Given the description of an element on the screen output the (x, y) to click on. 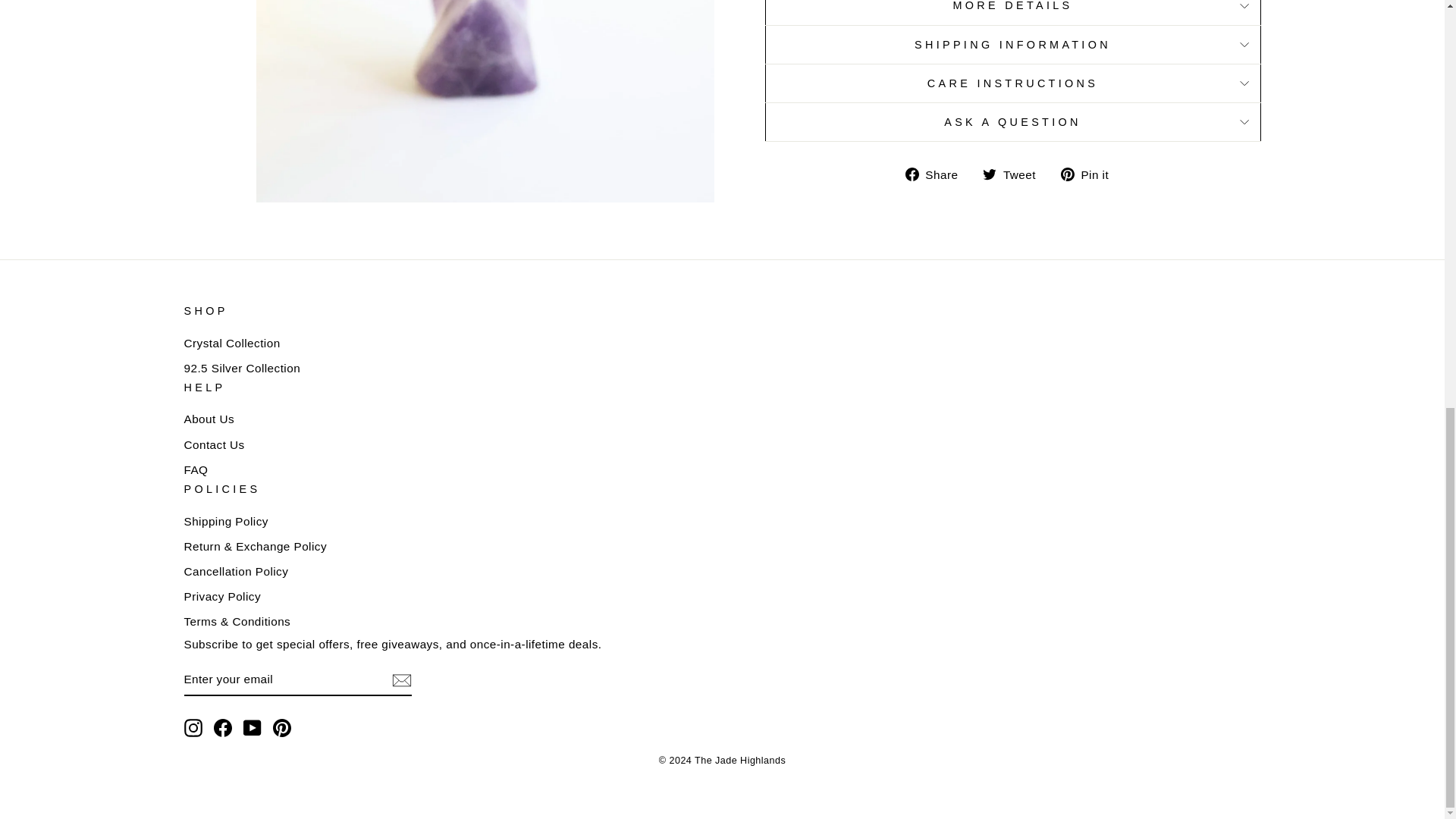
instagram (192, 728)
Tweet on Twitter (1014, 173)
The Jade Highlands on YouTube (251, 728)
The Jade Highlands on Pinterest (282, 728)
Share on Facebook (937, 173)
The Jade Highlands on Facebook (222, 728)
icon-email (400, 679)
The Jade Highlands on Instagram (192, 728)
Pin on Pinterest (1090, 173)
twitter (988, 173)
